Given the description of an element on the screen output the (x, y) to click on. 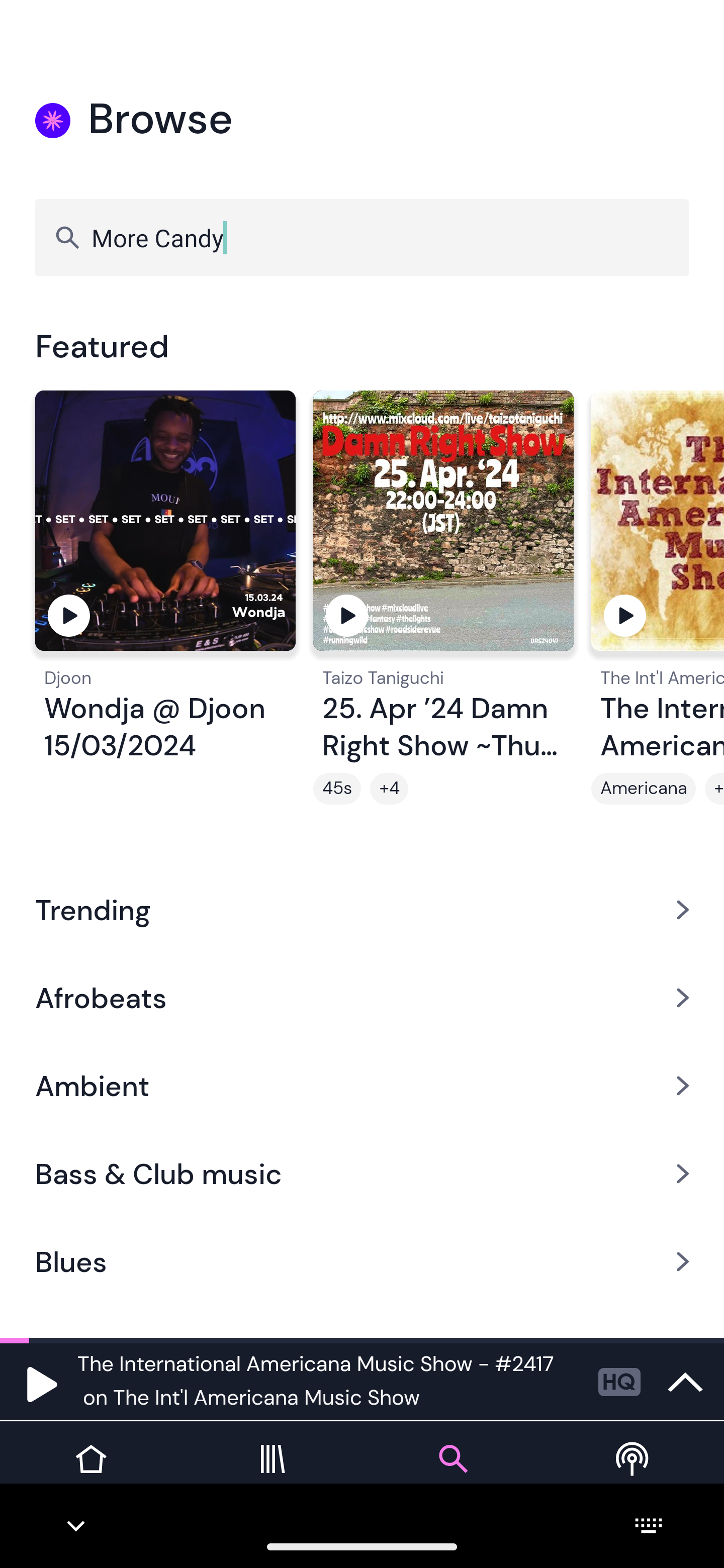
More Candy (361, 237)
45s (337, 788)
Americana (643, 788)
Trending (361, 909)
Afrobeats (361, 997)
Ambient (361, 1085)
Bass & Club music (361, 1174)
Blues (361, 1262)
Home tab (90, 1473)
Library tab (271, 1473)
Browse tab (452, 1473)
Live tab (633, 1473)
